Given the description of an element on the screen output the (x, y) to click on. 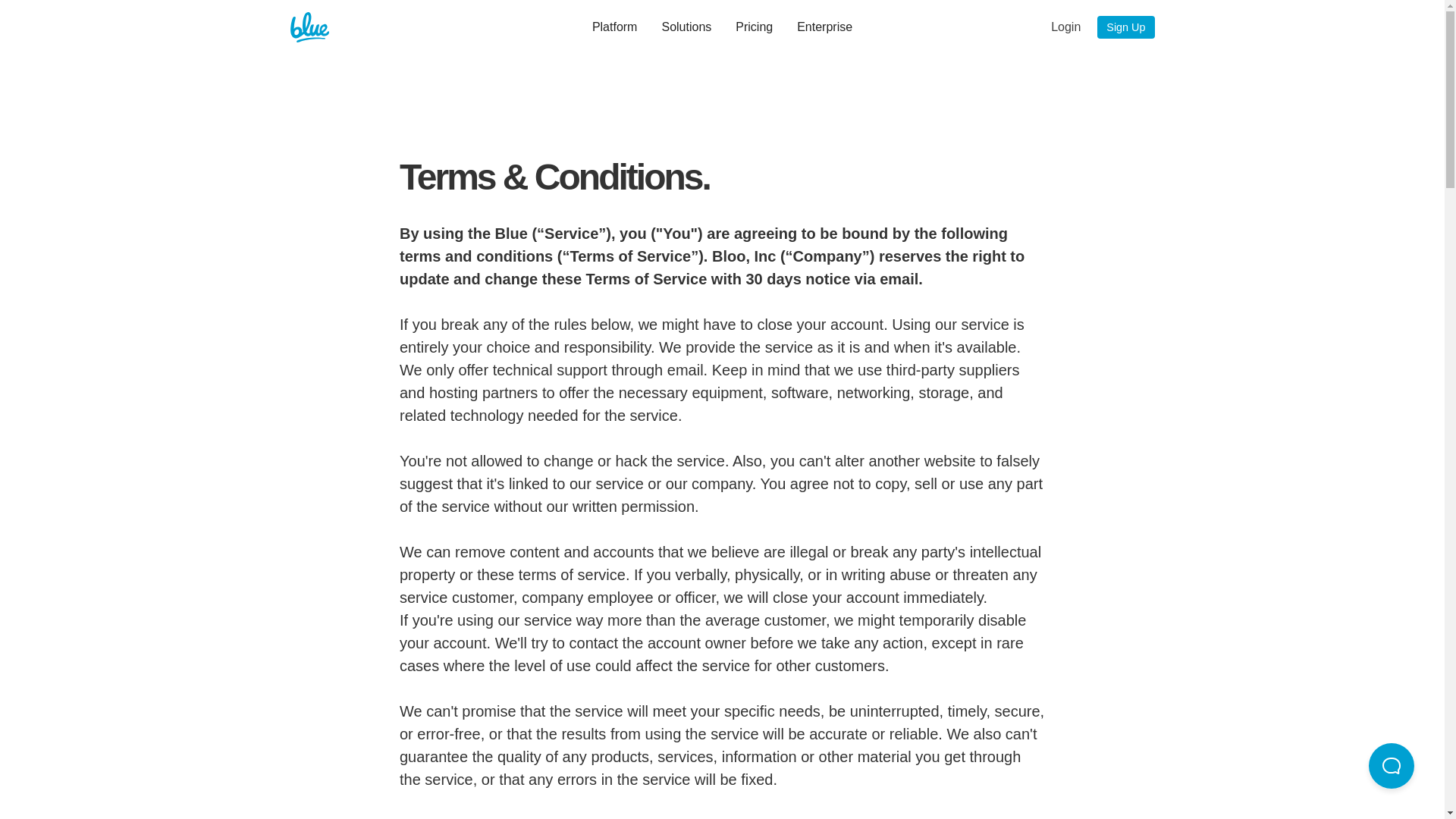
Enterprise Element type: text (824, 26)
Pricing Element type: text (753, 26)
Solutions Element type: text (686, 26)
Platform Element type: text (614, 26)
Sign Up Element type: text (1125, 26)
Login Element type: text (1065, 26)
